Given the description of an element on the screen output the (x, y) to click on. 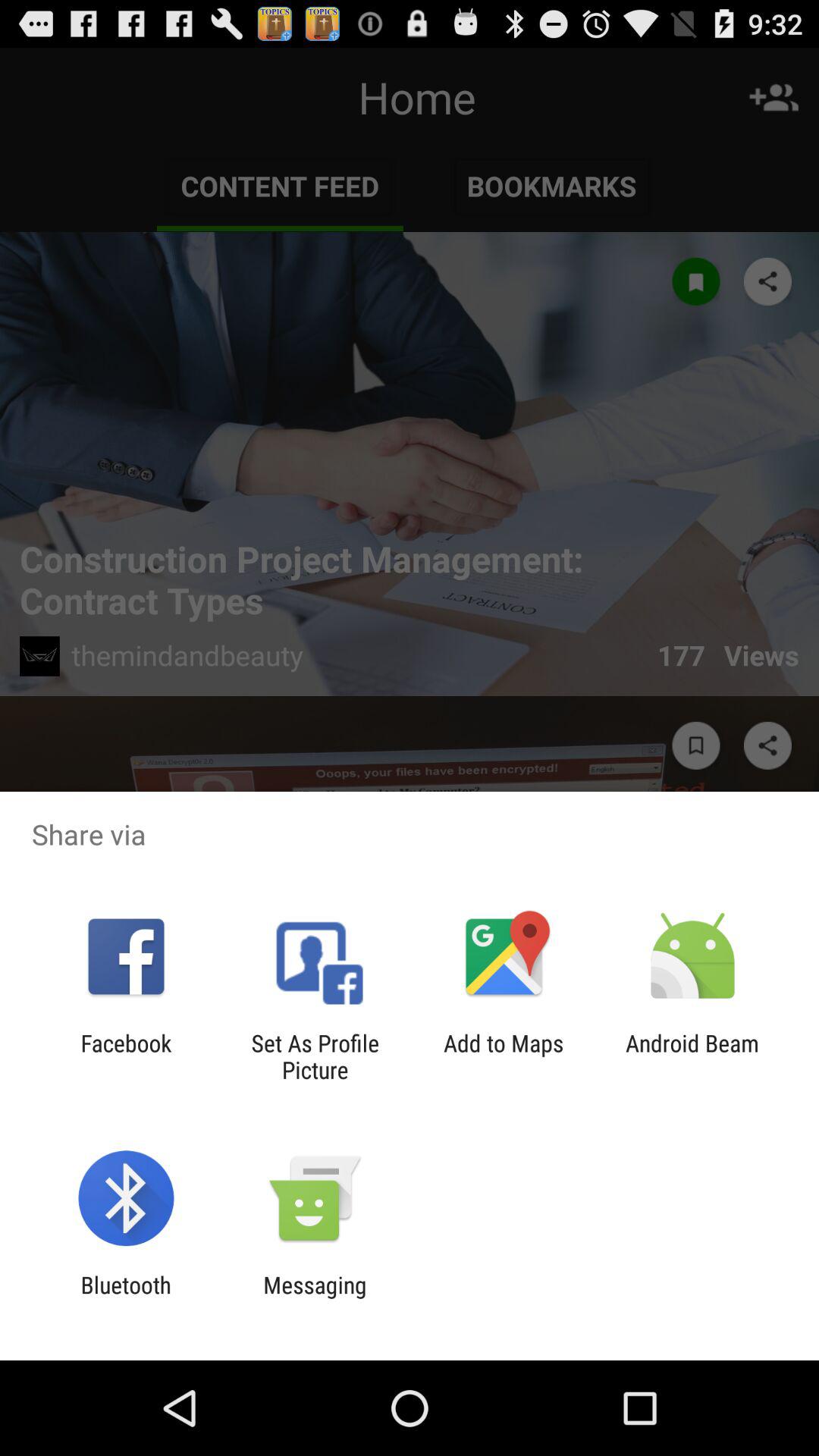
click app next to the set as profile item (125, 1056)
